Given the description of an element on the screen output the (x, y) to click on. 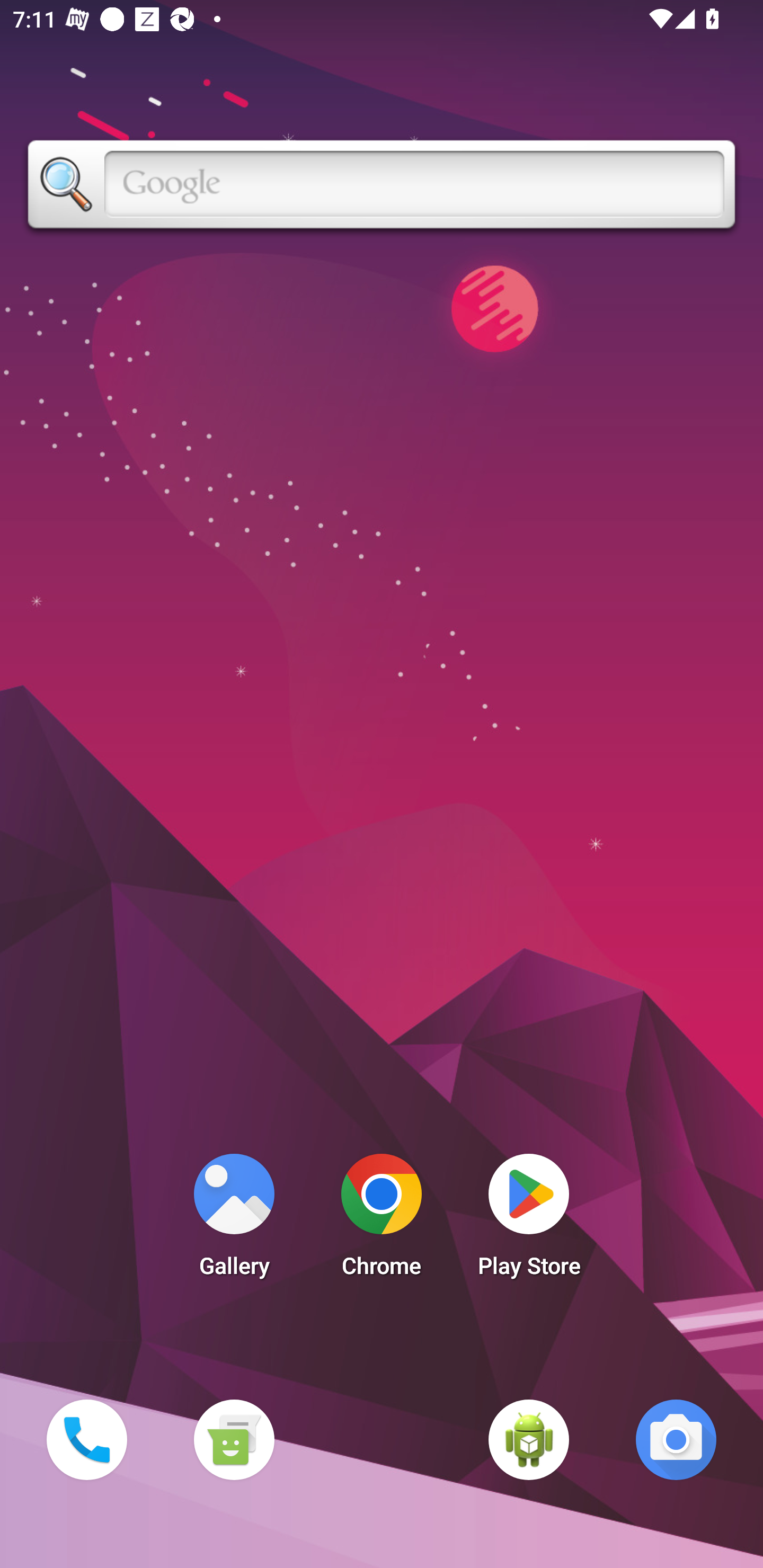
Gallery (233, 1220)
Chrome (381, 1220)
Play Store (528, 1220)
Phone (86, 1439)
Messaging (233, 1439)
WebView Browser Tester (528, 1439)
Camera (676, 1439)
